Given the description of an element on the screen output the (x, y) to click on. 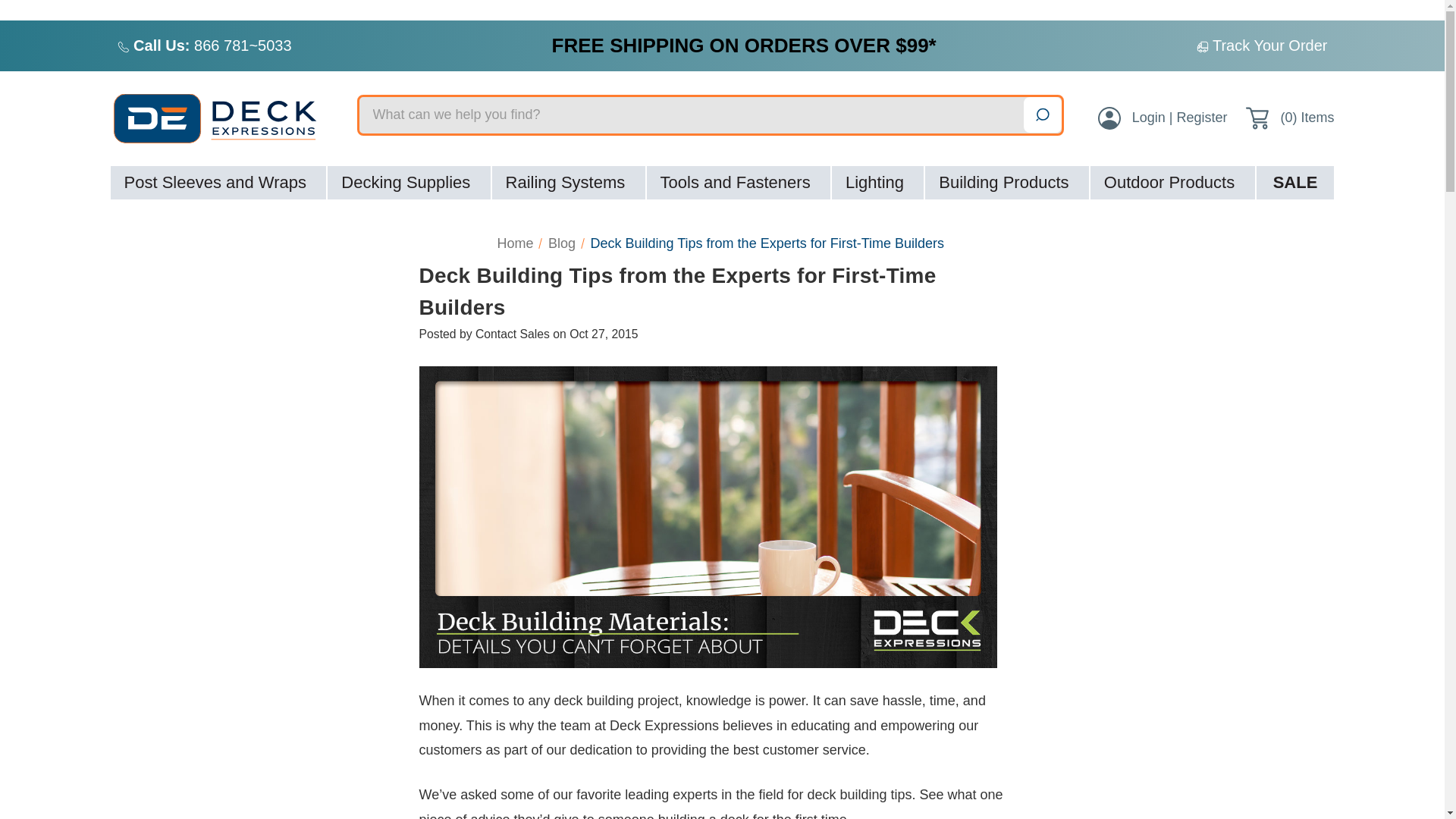
Deck Expressions (223, 118)
Track Your Order (1269, 45)
